Given the description of an element on the screen output the (x, y) to click on. 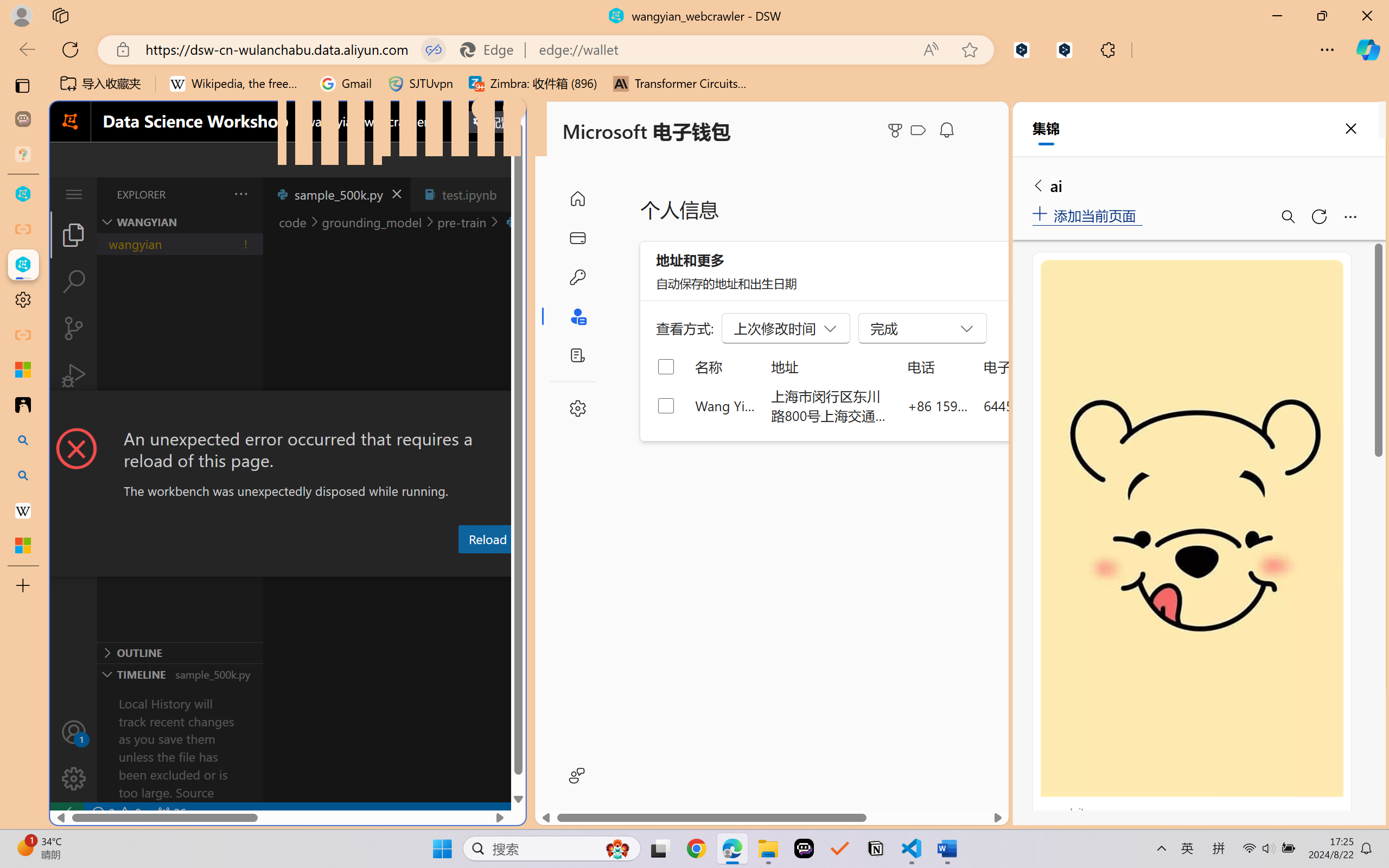
Transformer Circuits Thread (680, 83)
Run and Debug (Ctrl+Shift+D) (73, 375)
Explorer actions (212, 194)
